Given the description of an element on the screen output the (x, y) to click on. 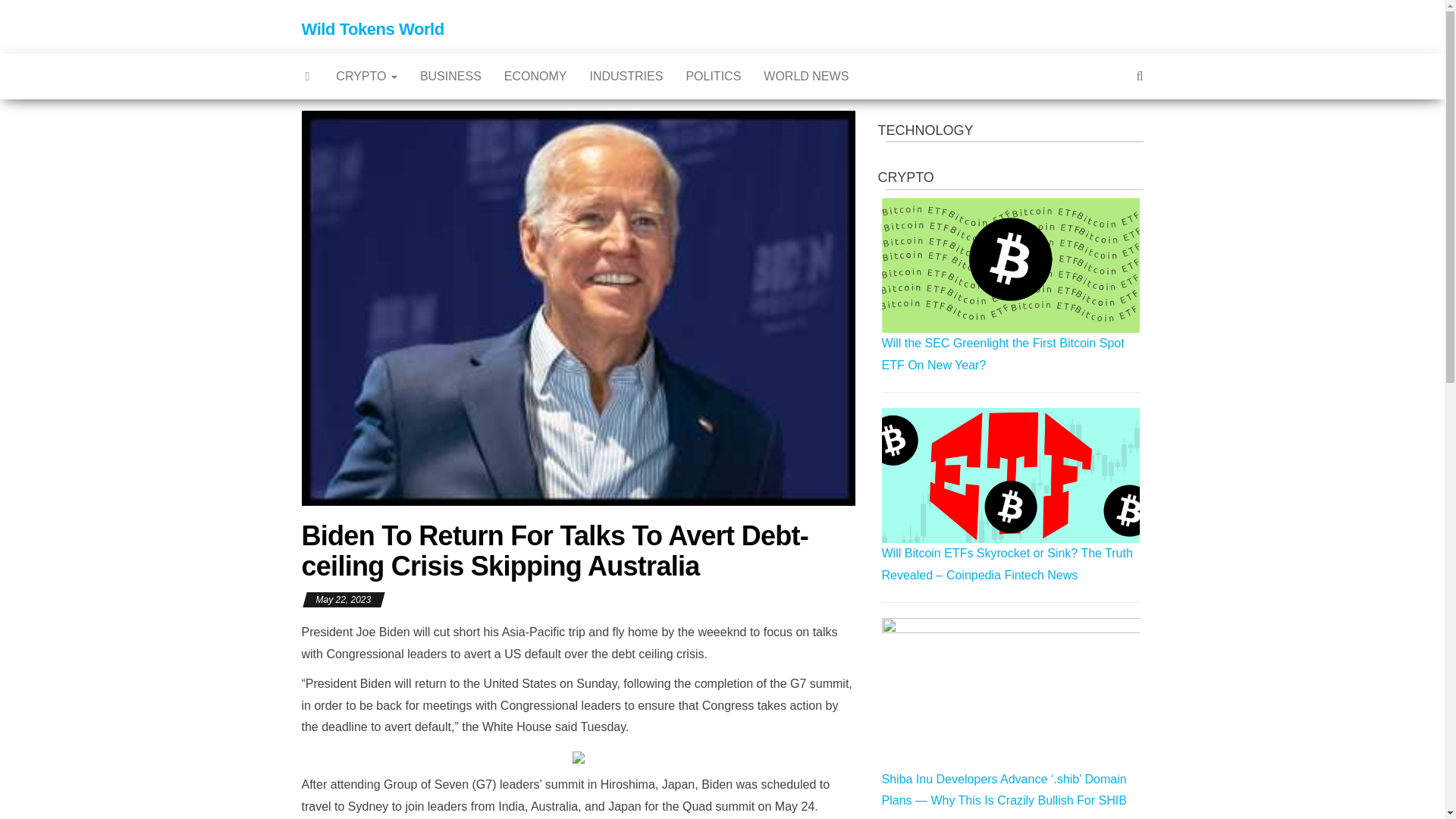
Wild Tokens World (372, 28)
Industries (626, 76)
World News (806, 76)
CRYPTO (366, 76)
Economy (535, 76)
WORLD NEWS (806, 76)
Crypto (366, 76)
ECONOMY (535, 76)
POLITICS (713, 76)
Politics (713, 76)
Business (451, 76)
